Given the description of an element on the screen output the (x, y) to click on. 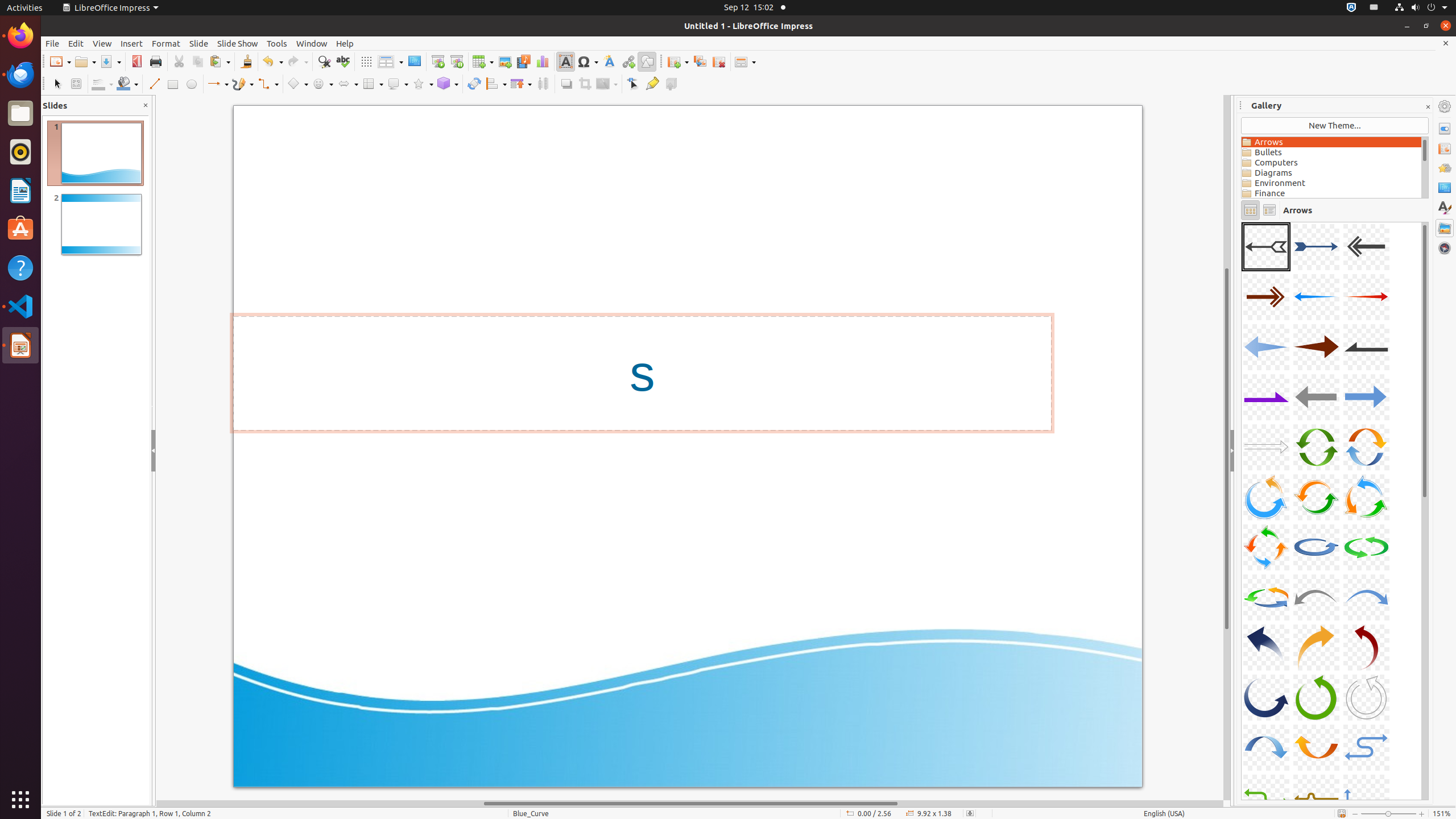
Navigator Element type: radio-button (1444, 247)
Format Element type: menu (165, 43)
Files Element type: push-button (20, 113)
Filter Element type: push-button (606, 83)
Shadow Element type: toggle-button (565, 83)
